Given the description of an element on the screen output the (x, y) to click on. 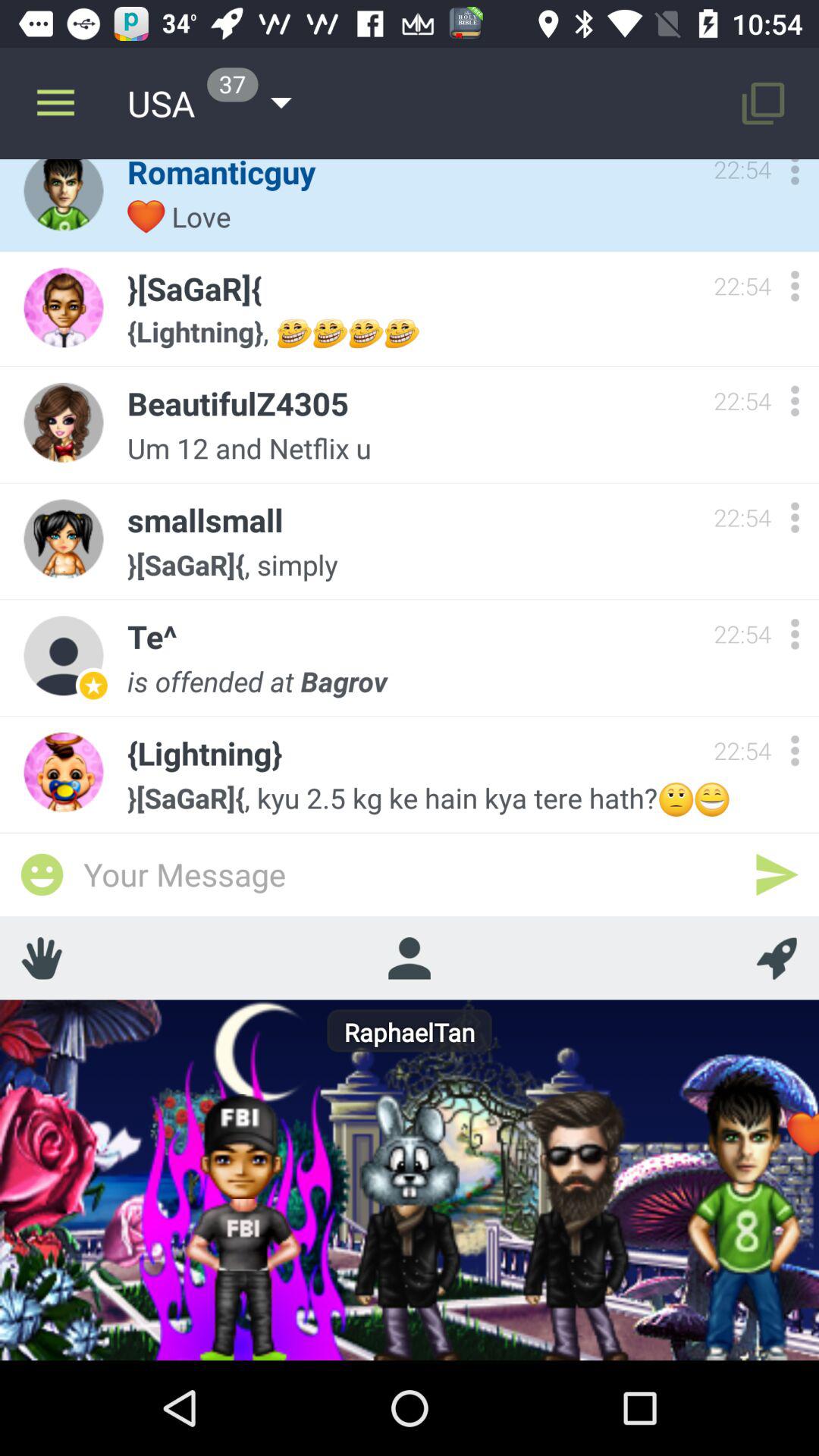
message textbox (409, 873)
